Given the description of an element on the screen output the (x, y) to click on. 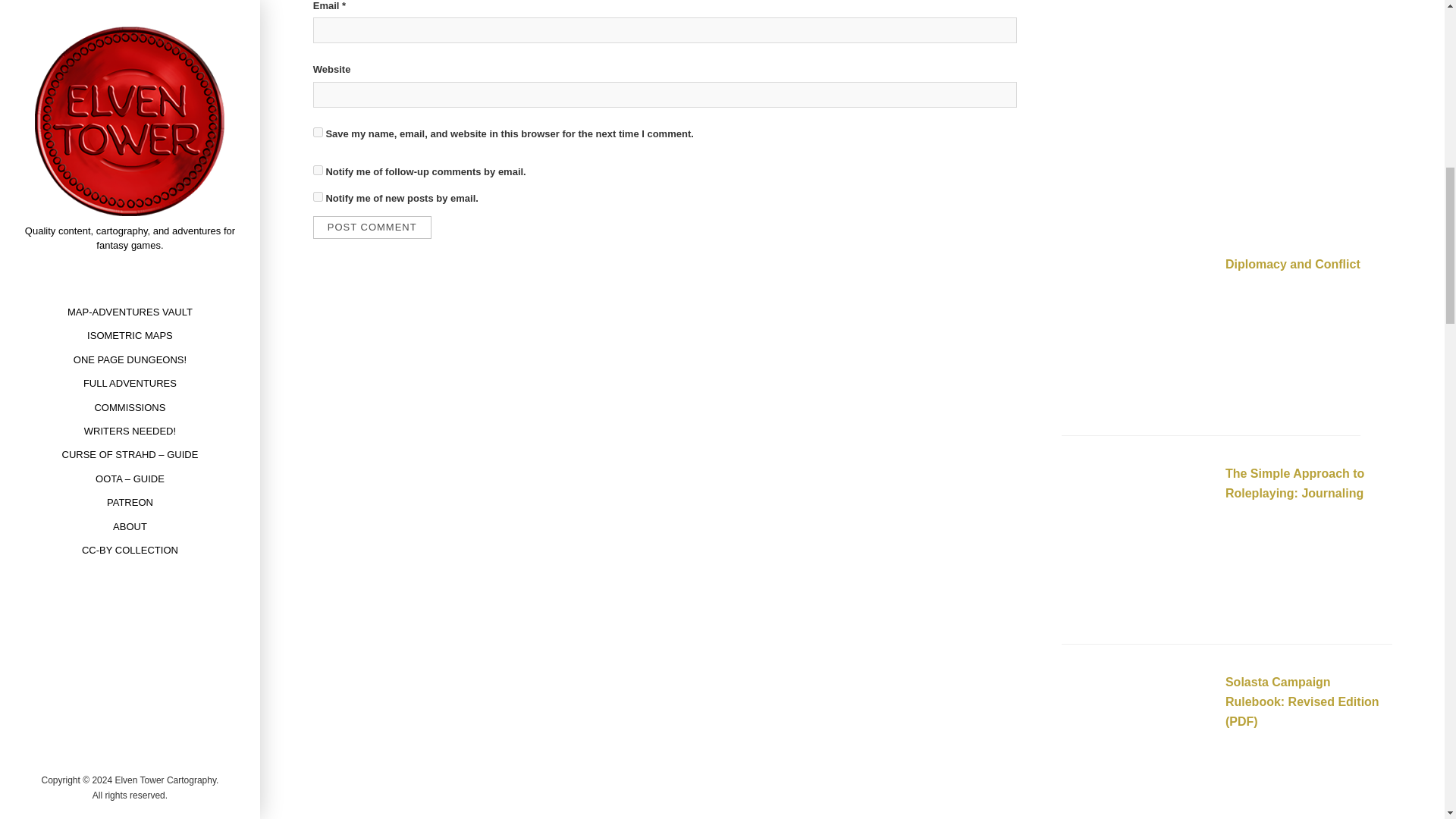
Diplomacy and Conflict (1292, 264)
yes (318, 132)
Post Comment (371, 227)
The Simple Approach to Roleplaying: Journaling (1136, 542)
subscribe (318, 196)
subscribe (318, 170)
Post Comment (371, 227)
The Simple Approach to Roleplaying: Journaling (1294, 482)
Diplomacy and Conflict (1136, 334)
